Given the description of an element on the screen output the (x, y) to click on. 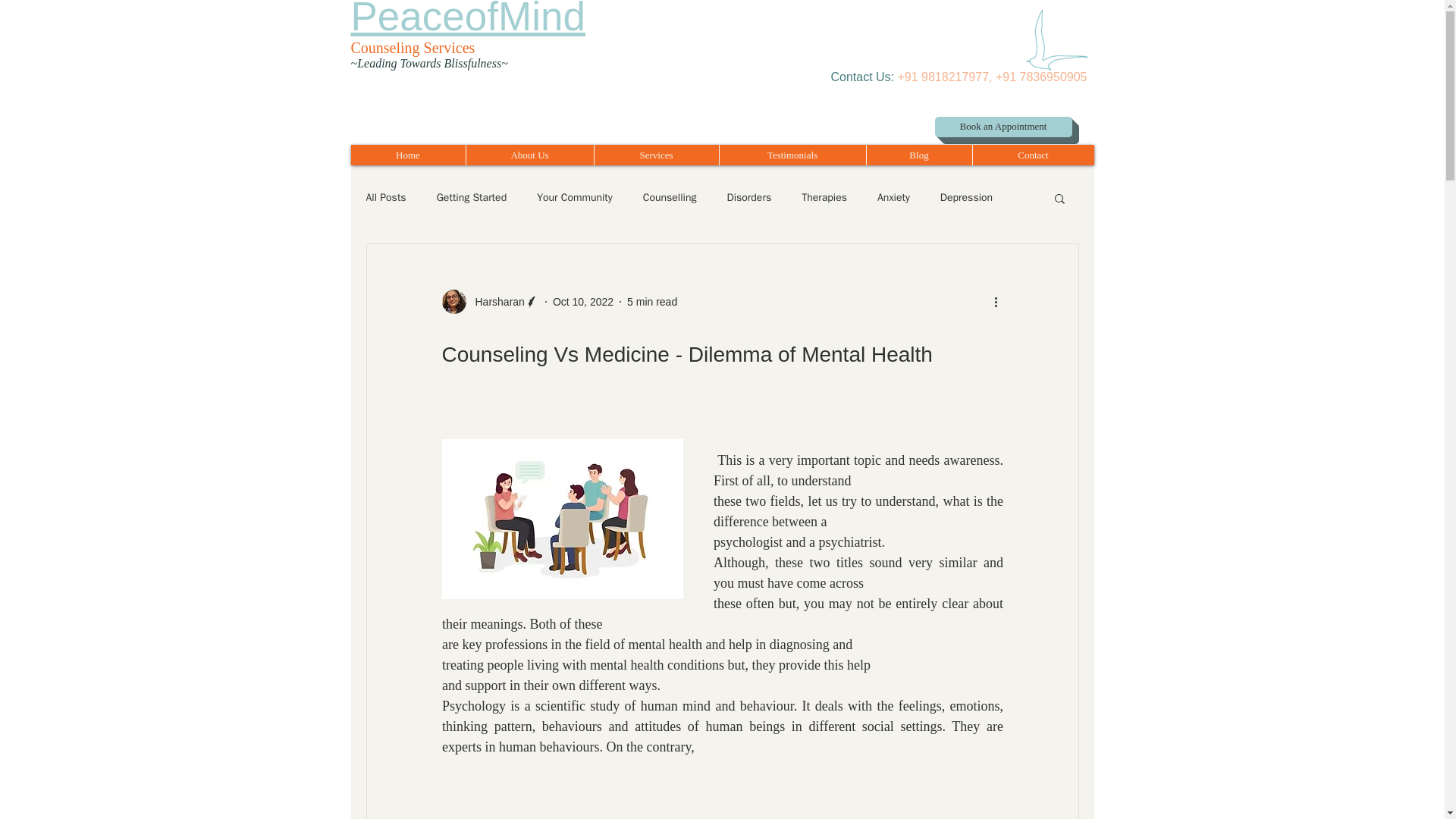
Oct 10, 2022 (582, 301)
Getting Started (471, 197)
Anxiety (893, 197)
Services (654, 154)
PeaceofMind (467, 19)
All Posts (385, 197)
Home (407, 154)
Harsharan (489, 301)
Your Community (574, 197)
About Us (529, 154)
